Given the description of an element on the screen output the (x, y) to click on. 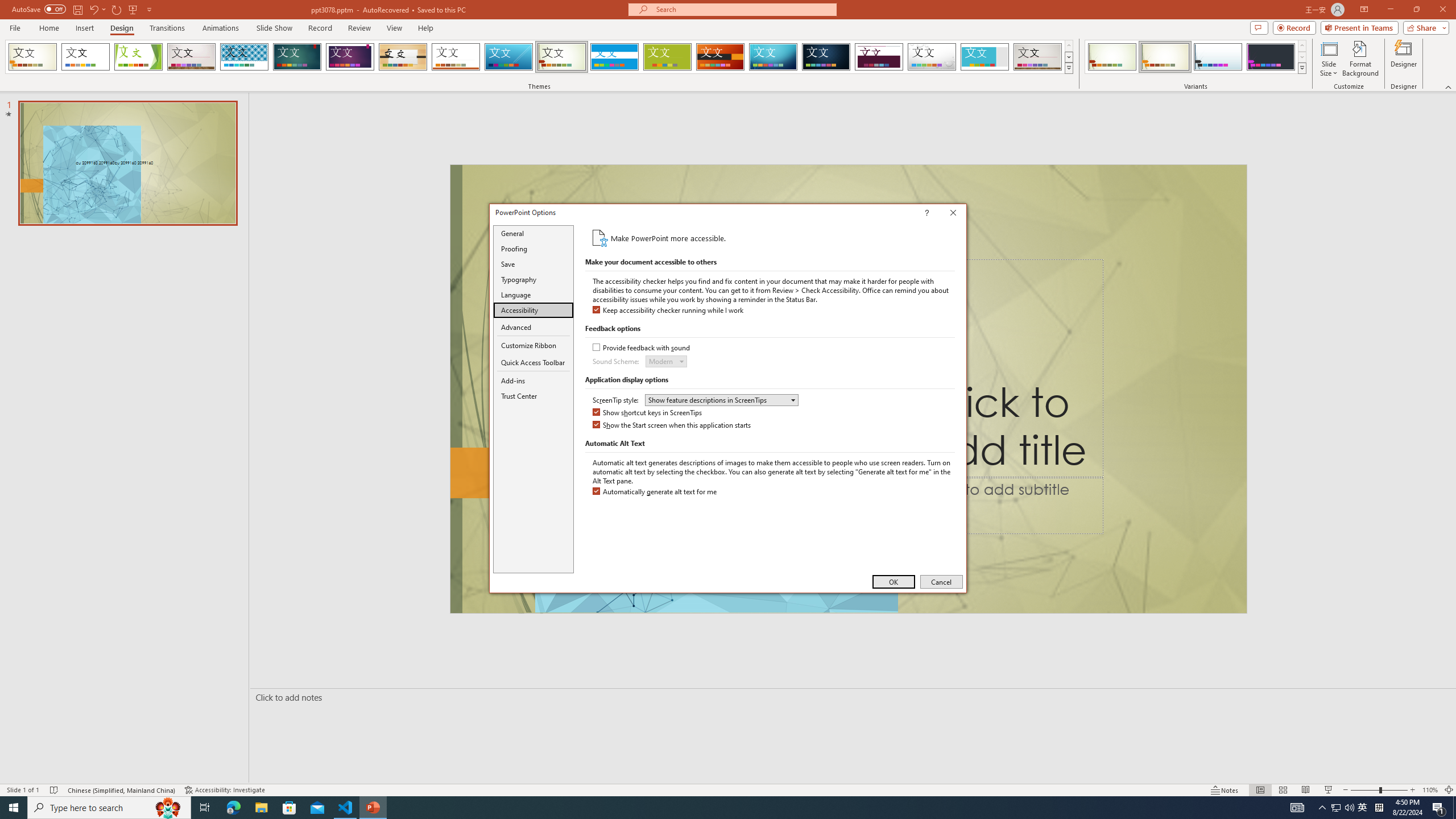
Integral Loading Preview... (244, 56)
Organic Loading Preview... (403, 56)
